Given the description of an element on the screen output the (x, y) to click on. 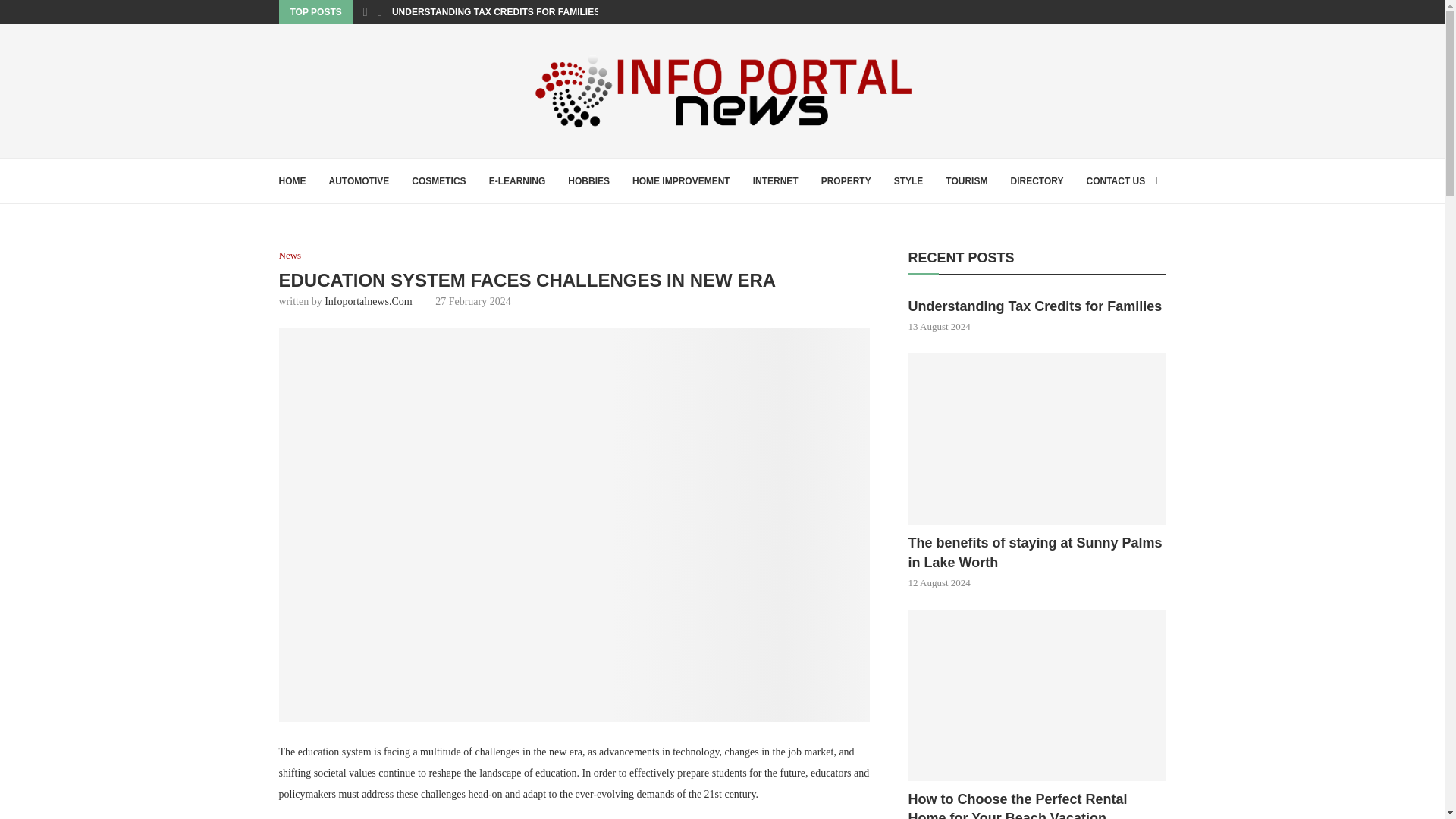
HOBBIES (588, 180)
COSMETICS (438, 180)
TOURISM (965, 180)
DIRECTORY (1036, 180)
PROPERTY (845, 180)
CONTACT US (1115, 180)
HOME IMPROVEMENT (680, 180)
UNDERSTANDING TAX CREDITS FOR FAMILIES (495, 12)
Infoportalnews.Com (368, 301)
